Given the description of an element on the screen output the (x, y) to click on. 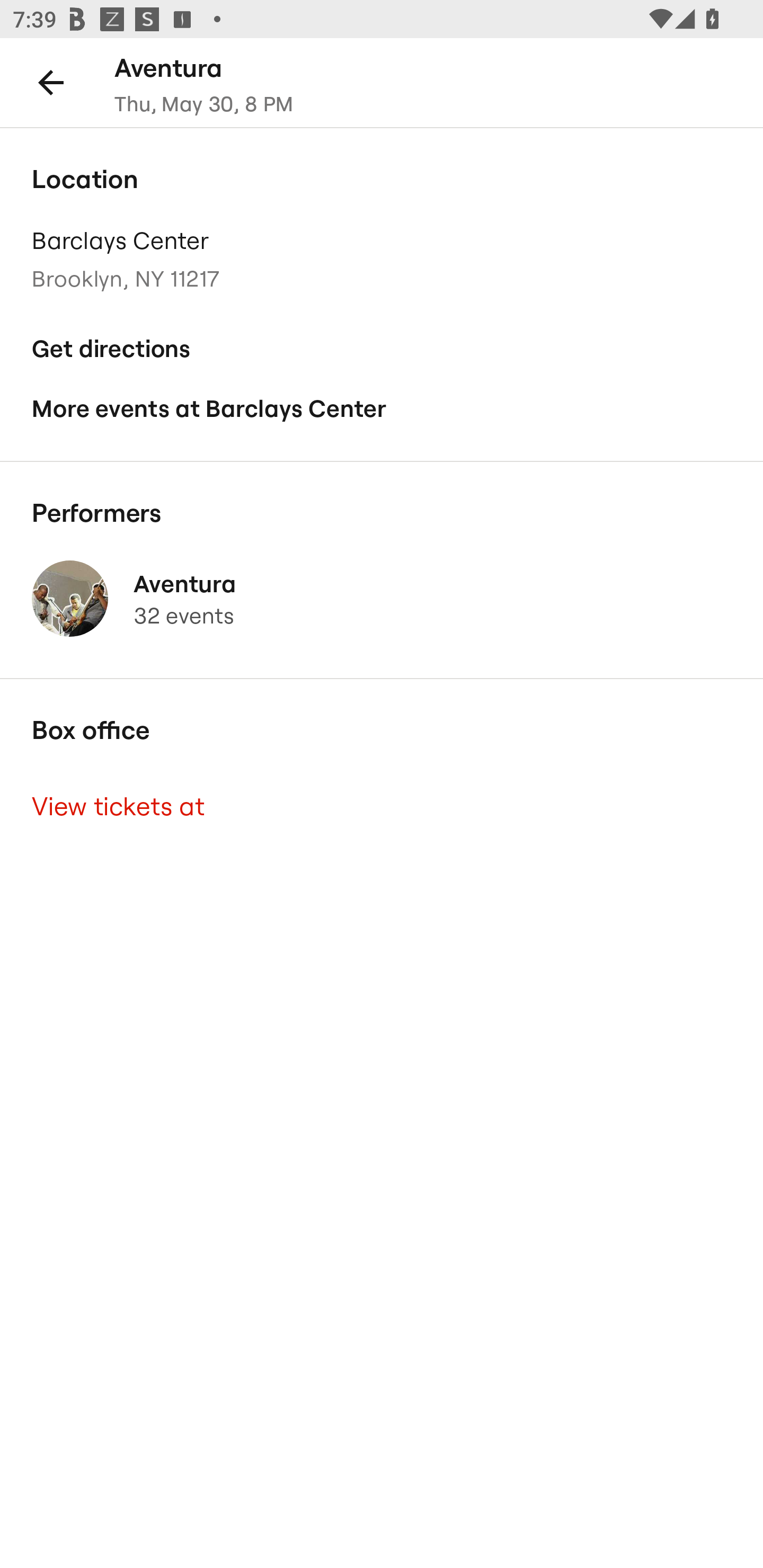
Back (50, 81)
Get directions (381, 348)
More events at Barclays Center (381, 409)
Aventura 32 events (381, 598)
View tickets at  (381, 806)
